Given the description of an element on the screen output the (x, y) to click on. 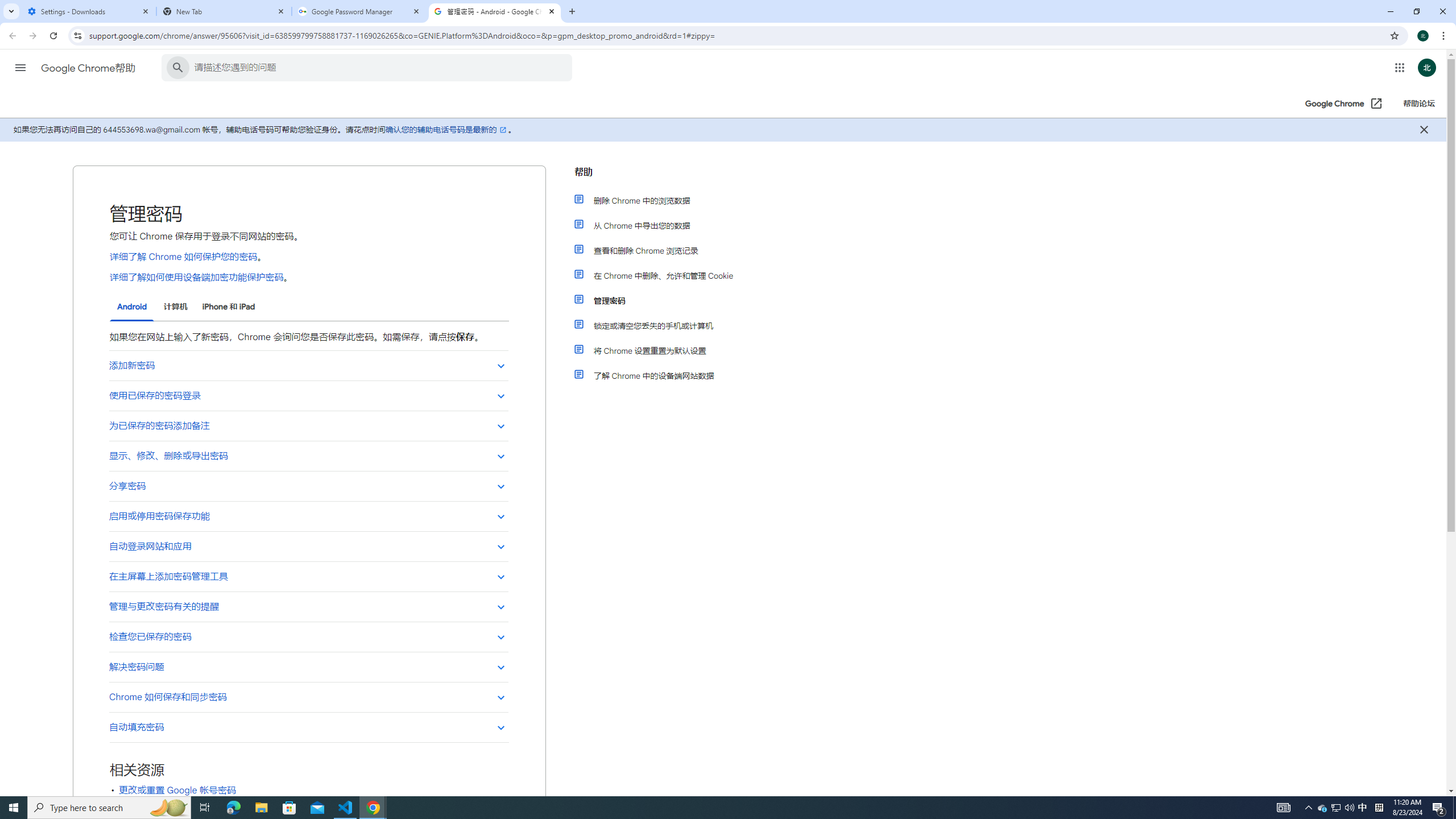
Android (131, 307)
